Given the description of an element on the screen output the (x, y) to click on. 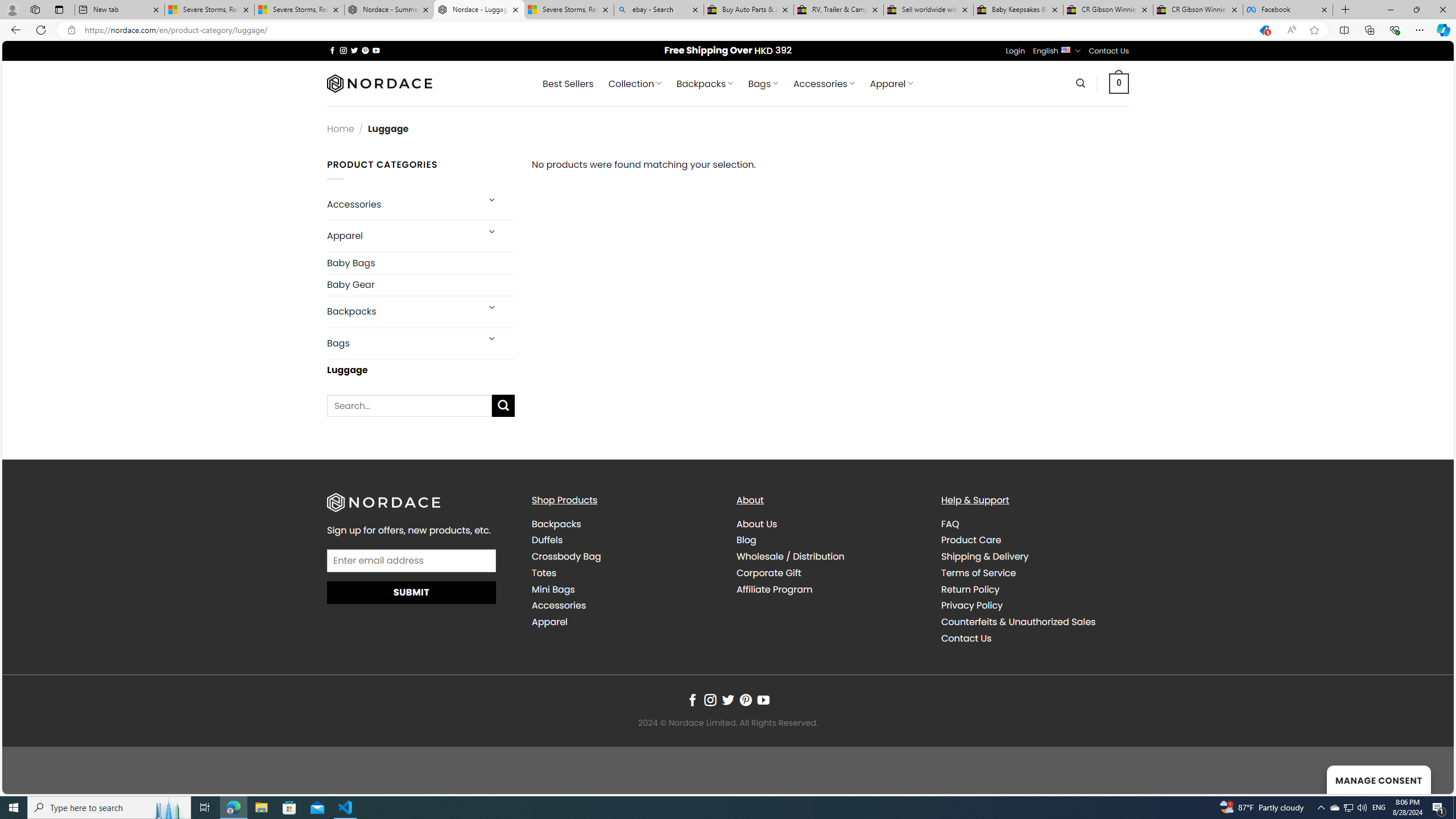
English (1065, 49)
Back (13, 29)
Split screen (1344, 29)
  Best Sellers (568, 83)
Nordace - Luggage (478, 9)
Corporate Gift (830, 572)
  0   (1118, 83)
Close tab (1324, 9)
AutomationID: field_4_1 (411, 561)
Product Care (970, 540)
Minimize (1390, 9)
Affiliate Program (774, 589)
